Given the description of an element on the screen output the (x, y) to click on. 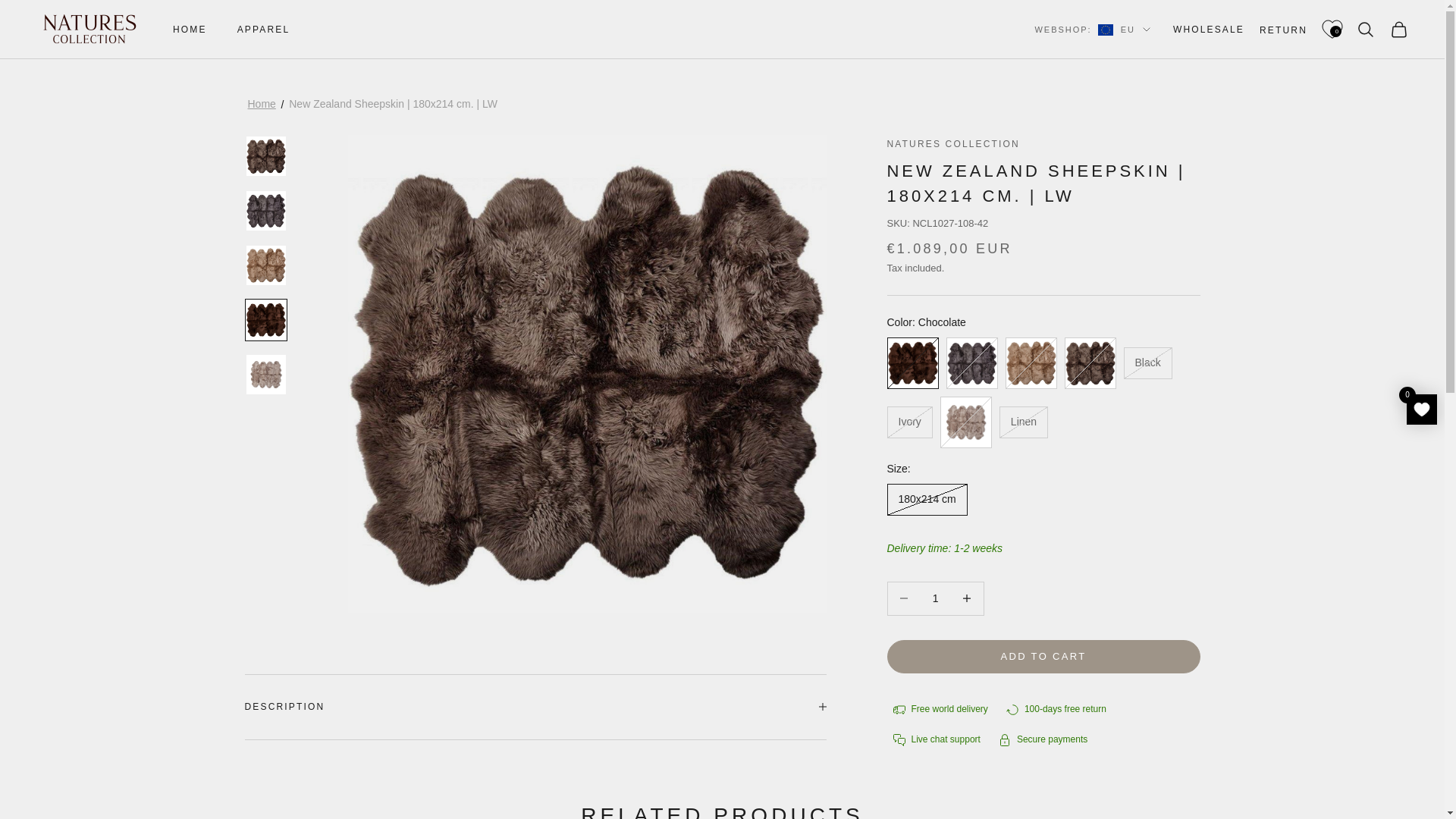
DESCRIPTION (534, 706)
EU (1123, 29)
1 (935, 598)
Naturescollection.eu (89, 29)
